Given the description of an element on the screen output the (x, y) to click on. 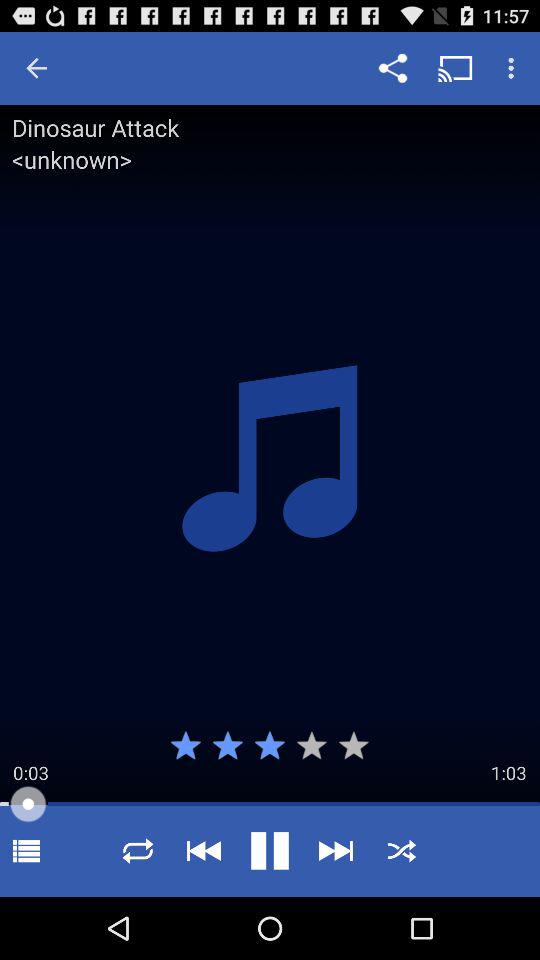
go to playlist (26, 850)
